Given the description of an element on the screen output the (x, y) to click on. 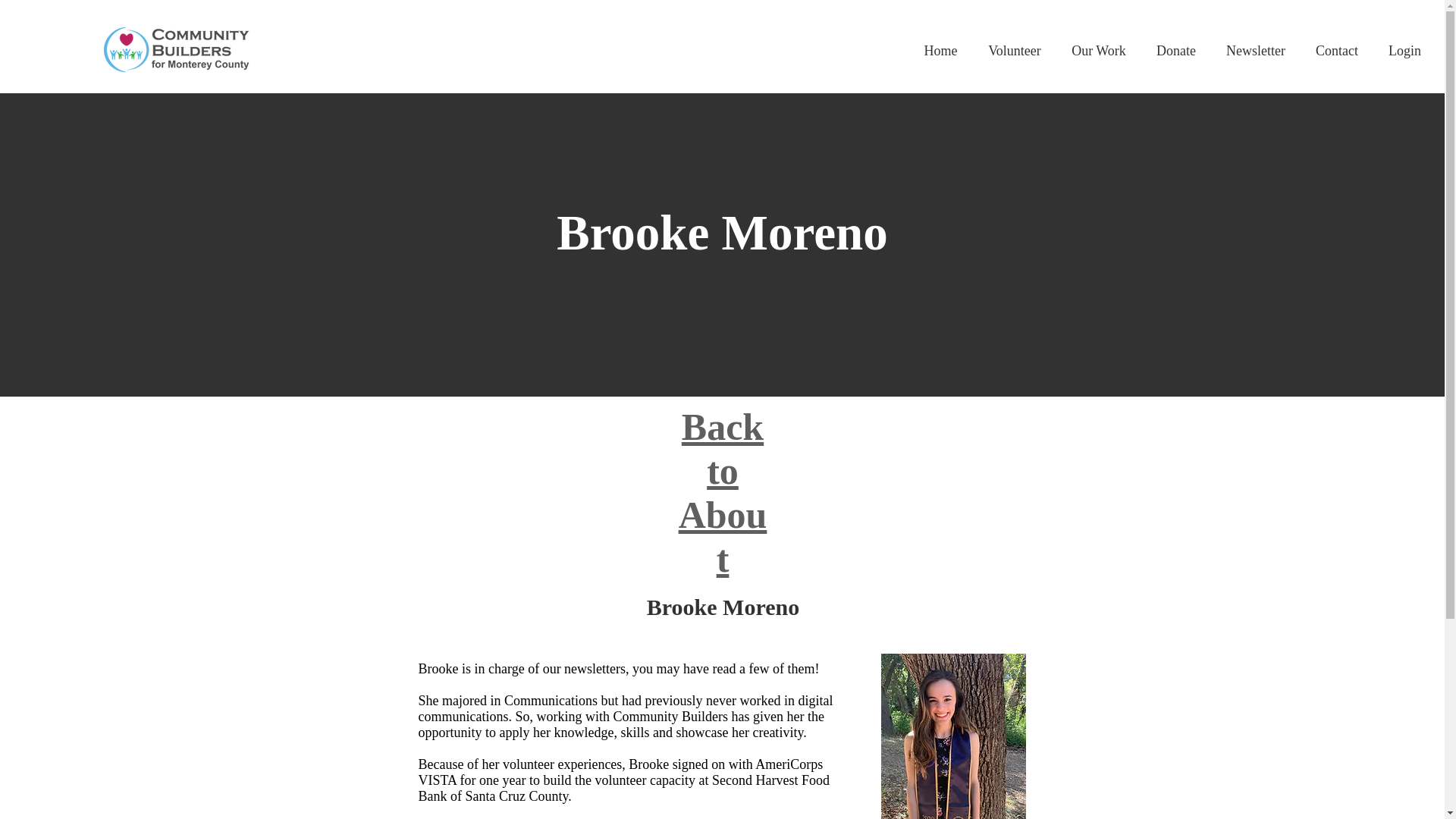
Newsletter (1255, 51)
Back to About (722, 492)
Home (940, 51)
Contact (1336, 51)
Donate (1176, 51)
Volunteer (1014, 51)
Login (1404, 51)
